Given the description of an element on the screen output the (x, y) to click on. 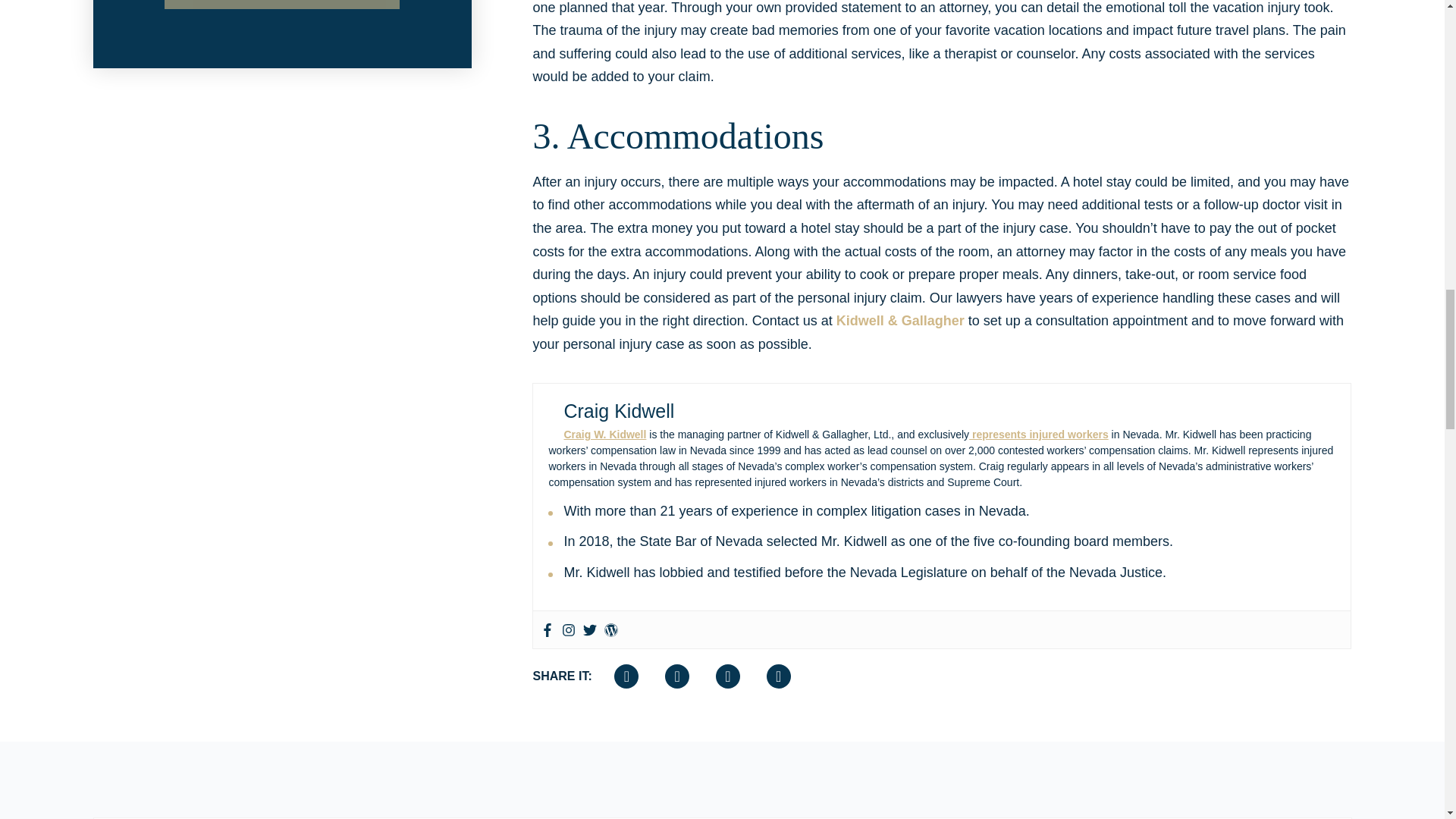
Instagram (568, 629)
Facebook (547, 629)
Submit (281, 4)
Twitter (589, 629)
Wordpress (610, 629)
